Given the description of an element on the screen output the (x, y) to click on. 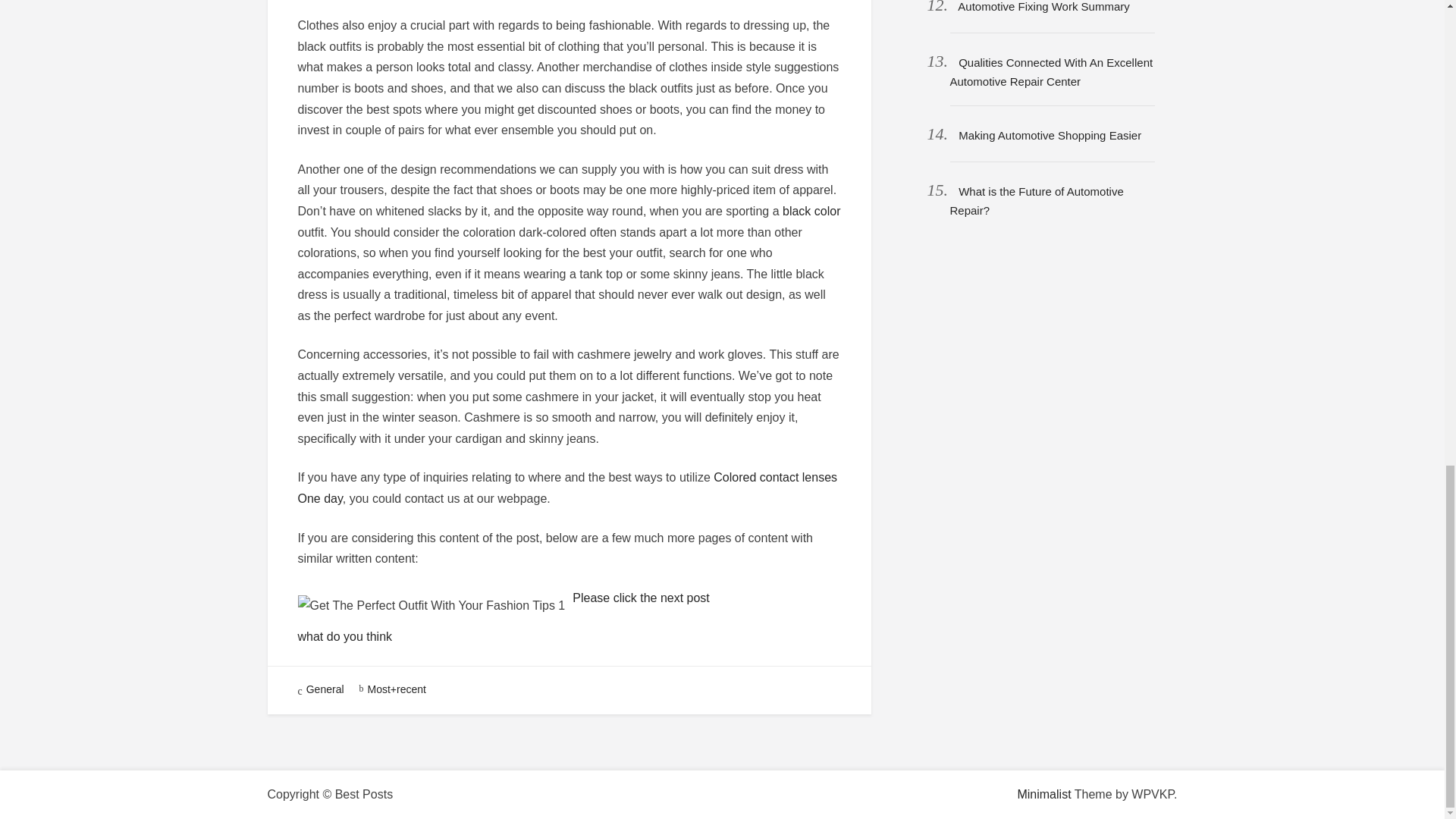
Minimalist (1043, 793)
General (324, 689)
Making Automotive Shopping Easier (1049, 134)
what do you think (344, 635)
Automotive Fixing Work Summary (1043, 6)
black color (811, 210)
Colored contact lenses One day (567, 487)
Please click the next post (641, 597)
What is the Future of Automotive Repair? (1035, 201)
